Given the description of an element on the screen output the (x, y) to click on. 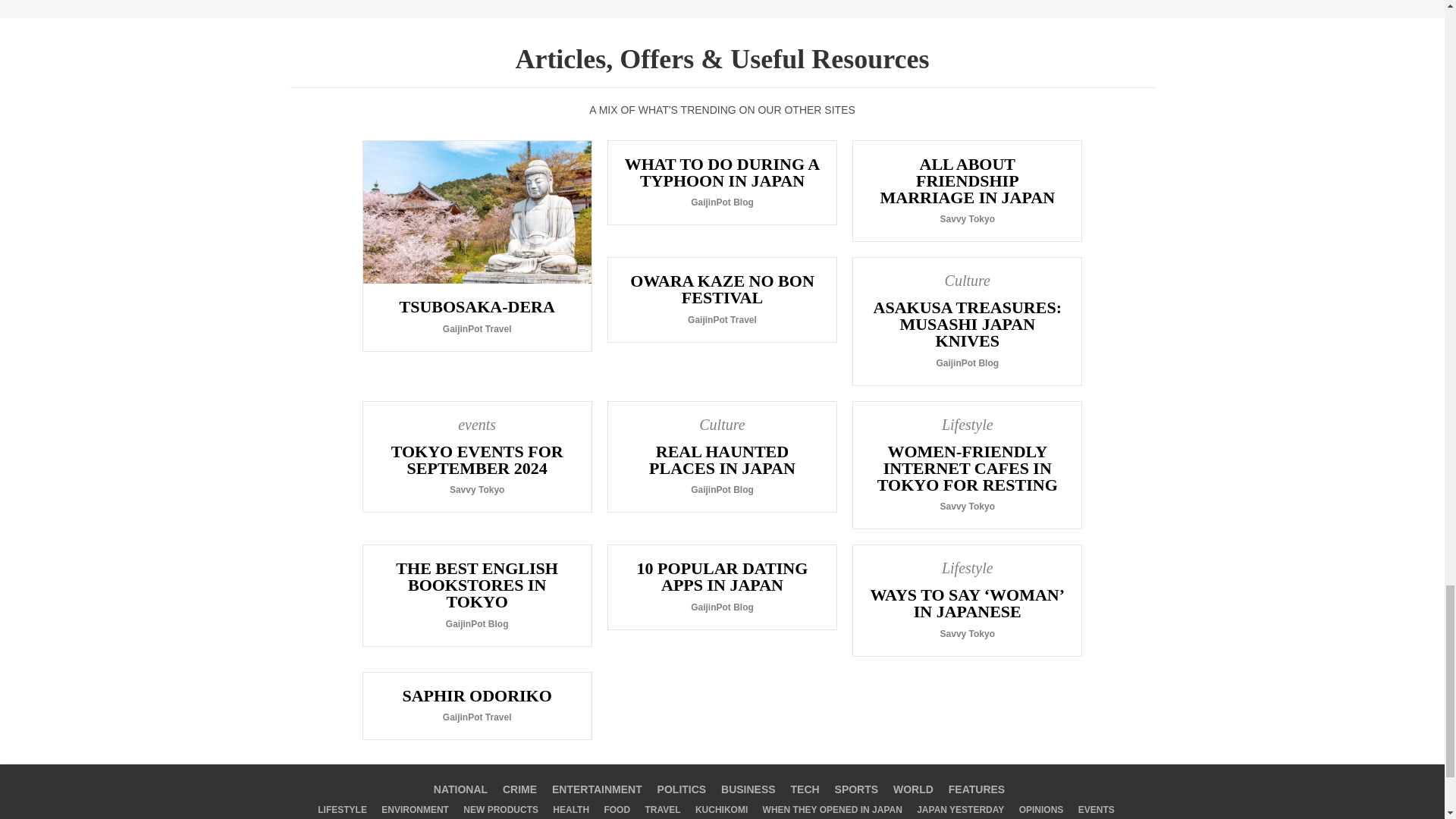
Real Haunted Places in Japan (721, 456)
What To Do During A Typhoon in Japan (721, 182)
The Best English Bookstores in Tokyo (476, 595)
All About Friendship Marriage in Japan (967, 190)
Owara Kaze no Bon Festival (721, 299)
Tsubosaka-dera (476, 245)
Asakusa Treasures: Musashi Japan Knives (967, 320)
Women-Friendly Internet Cafes in Tokyo for Resting (967, 465)
Tokyo Events For September 2024 (476, 456)
